Given the description of an element on the screen output the (x, y) to click on. 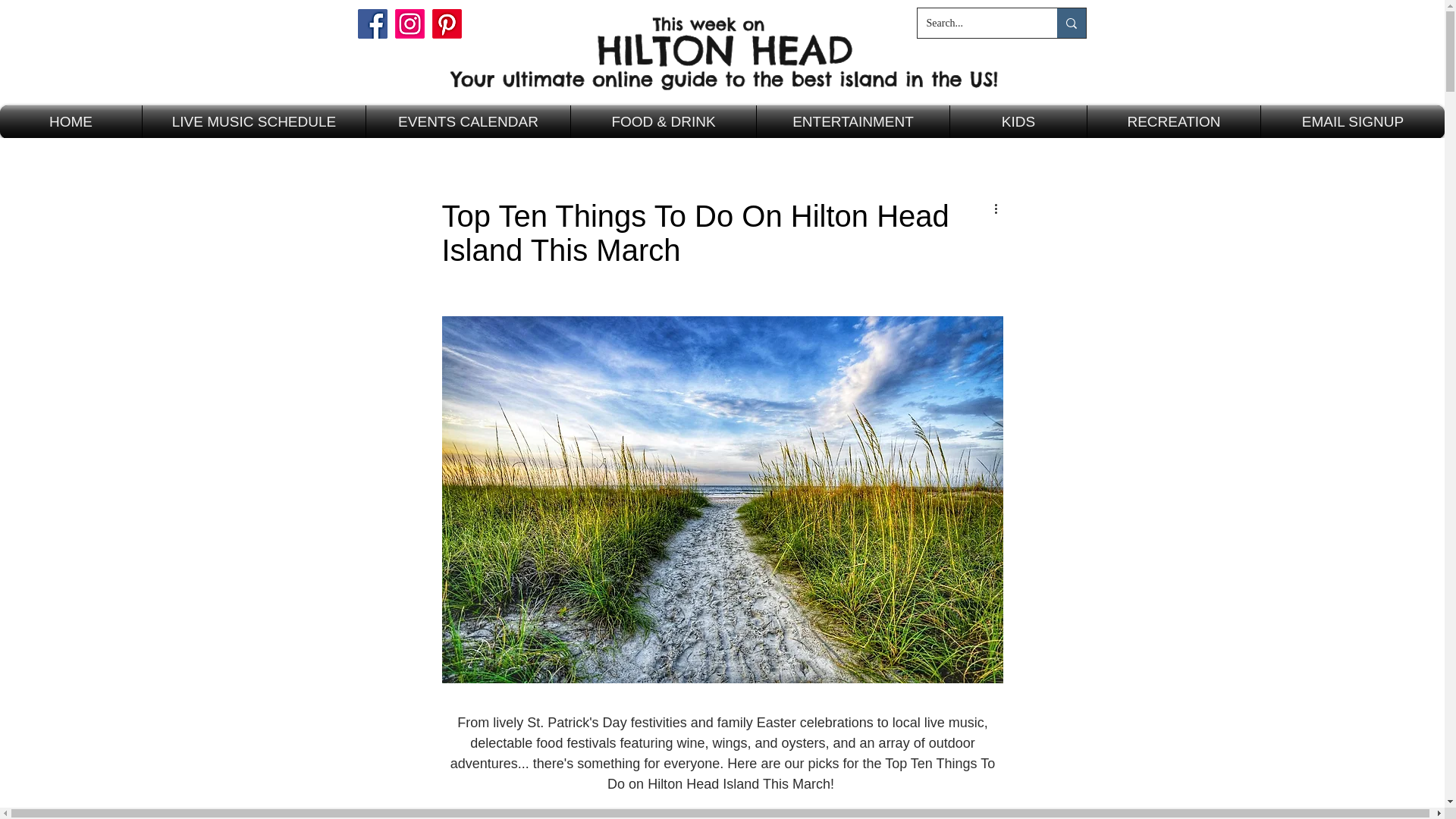
HOME (70, 121)
ENTERTAINMENT (853, 121)
EVENTS CALENDAR (468, 121)
LIVE MUSIC SCHEDULE (253, 121)
KIDS (1018, 121)
